Given the description of an element on the screen output the (x, y) to click on. 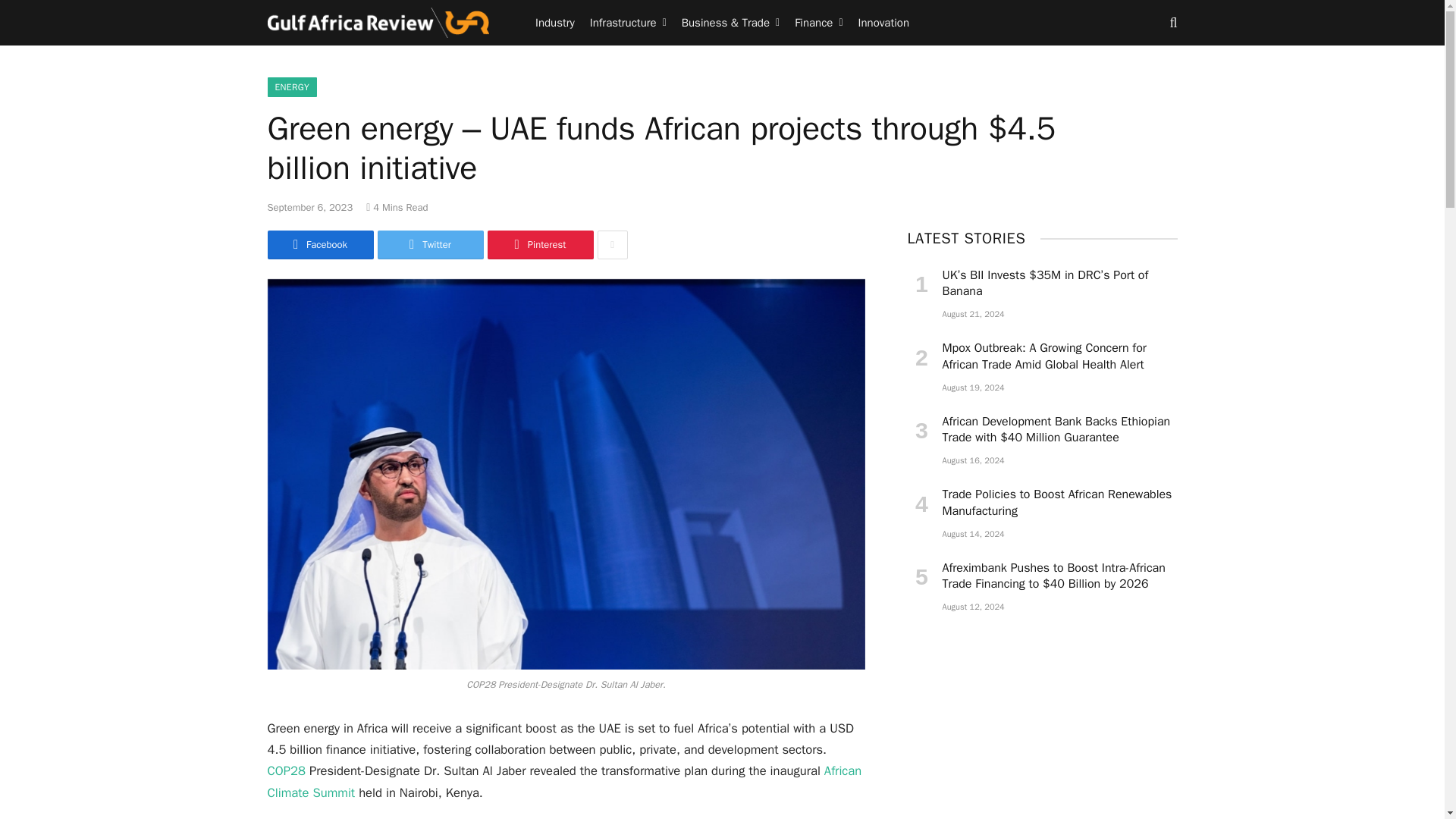
Gulf Africa Review (377, 22)
Infrastructure (628, 22)
Industry (554, 22)
